Given the description of an element on the screen output the (x, y) to click on. 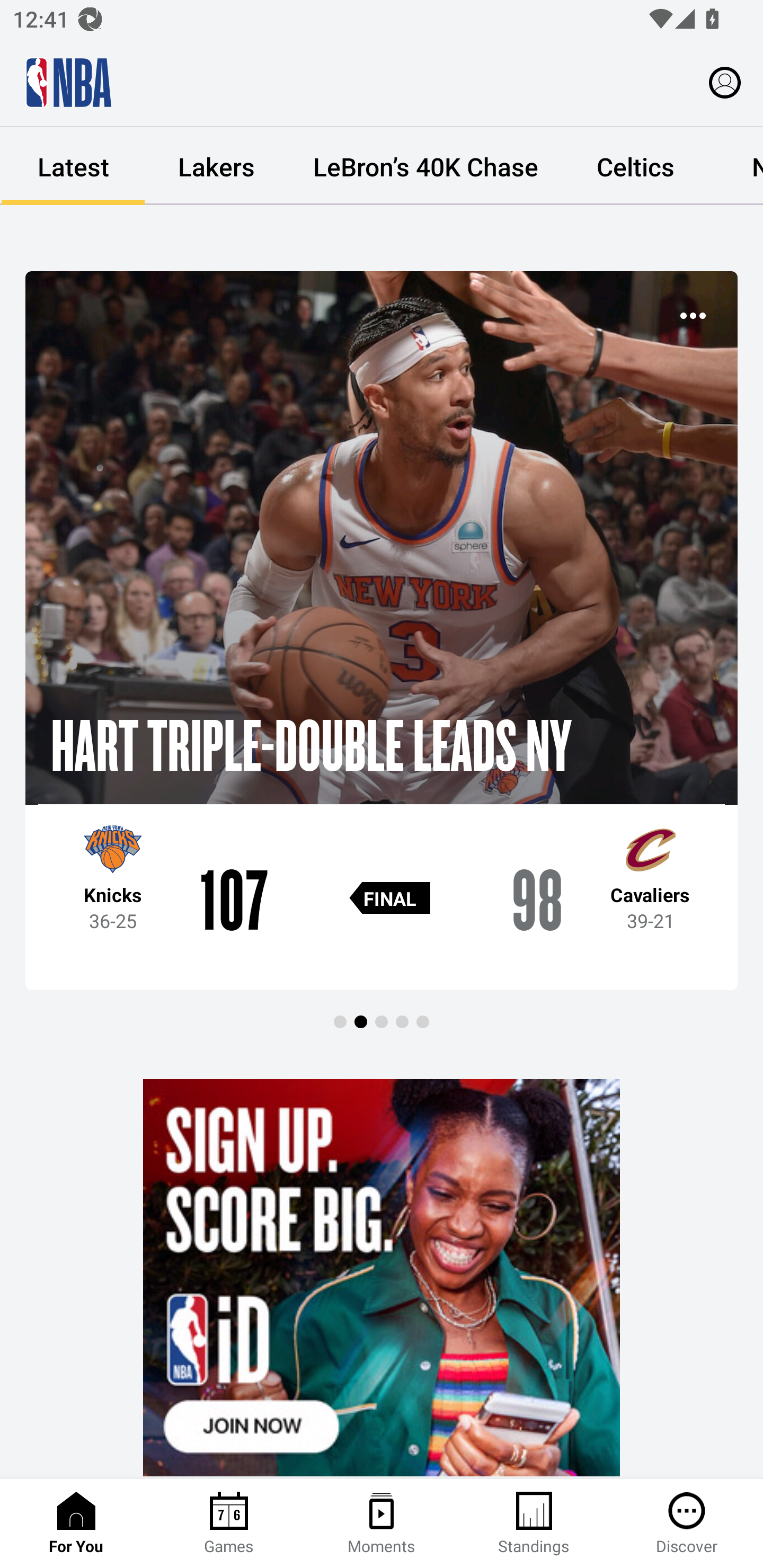
Profile (724, 81)
Lakers (215, 166)
LeBron’s 40K Chase (425, 166)
Celtics (634, 166)
Games (228, 1523)
Moments (381, 1523)
Standings (533, 1523)
Discover (686, 1523)
